Given the description of an element on the screen output the (x, y) to click on. 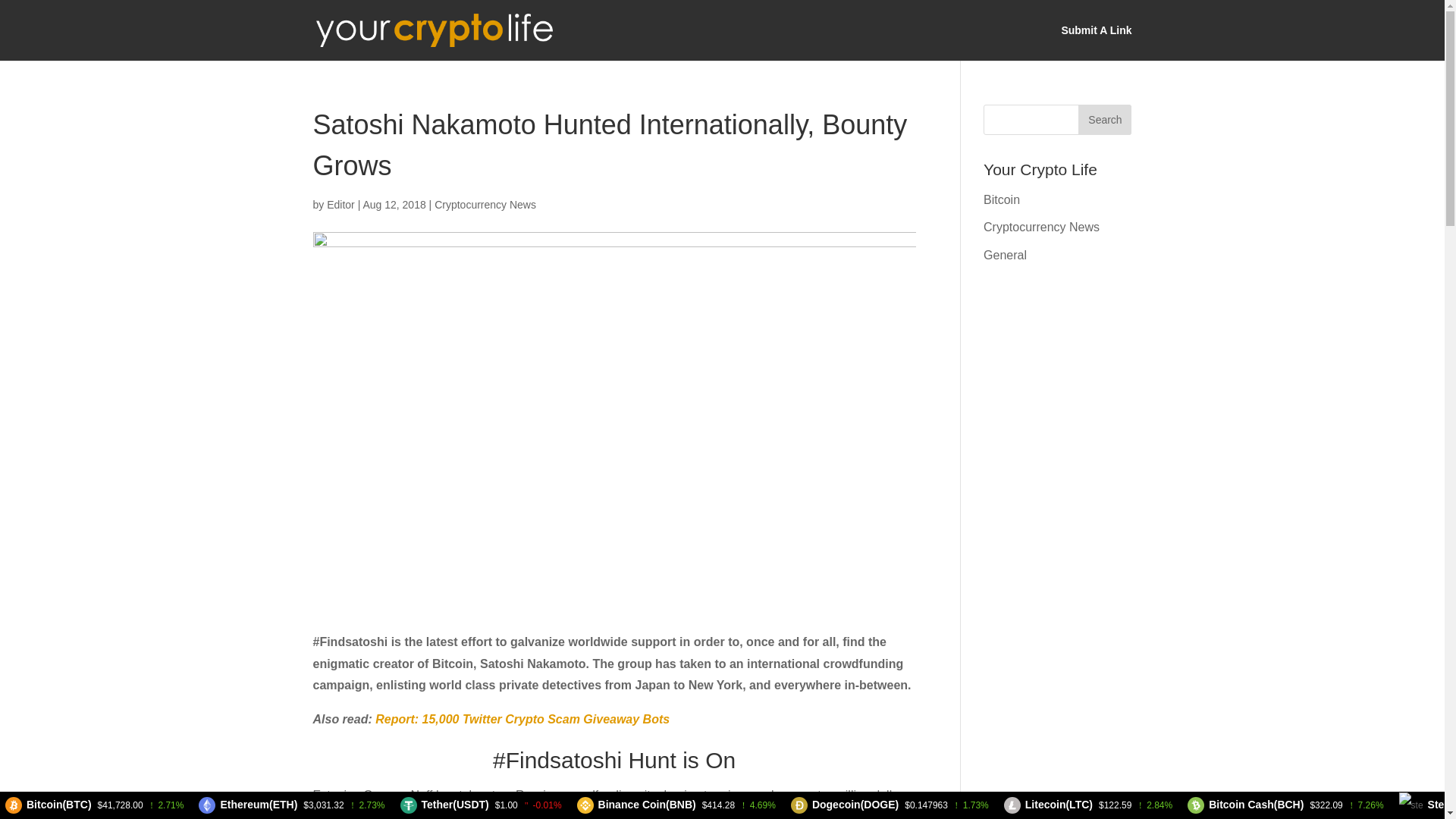
Report: 15,000 Twitter Crypto Scam Giveaway Bots (522, 718)
Posts by Editor (340, 204)
Submit A Link (1096, 42)
Search (1104, 119)
Bitcoin (1002, 198)
General (1005, 254)
Cryptocurrency News (1041, 226)
Editor (340, 204)
Search (1104, 119)
Cryptocurrency News (484, 204)
